Given the description of an element on the screen output the (x, y) to click on. 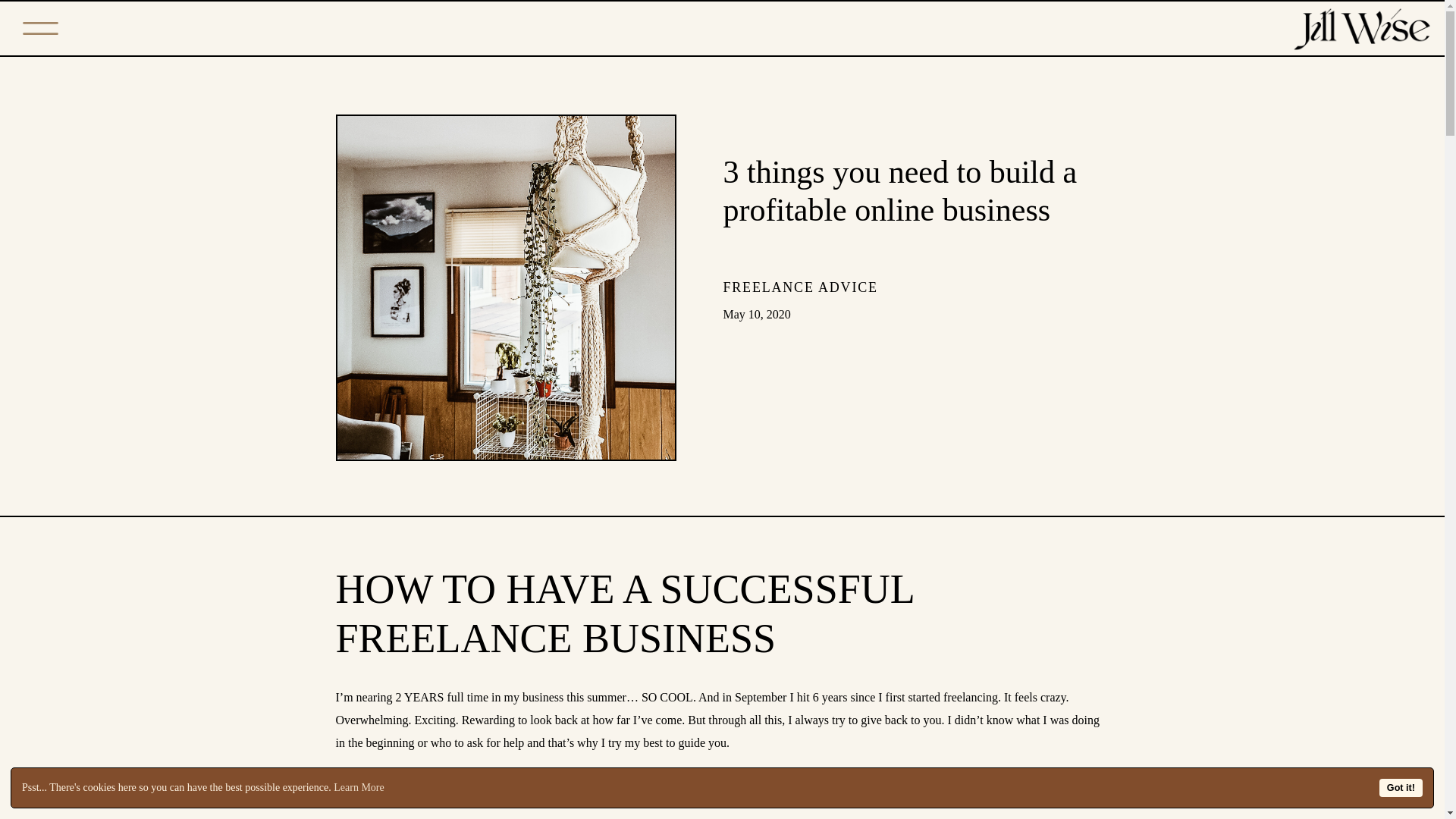
FREELANCE ADVICE (800, 287)
Learn More (358, 787)
Got it! (1400, 787)
